Given the description of an element on the screen output the (x, y) to click on. 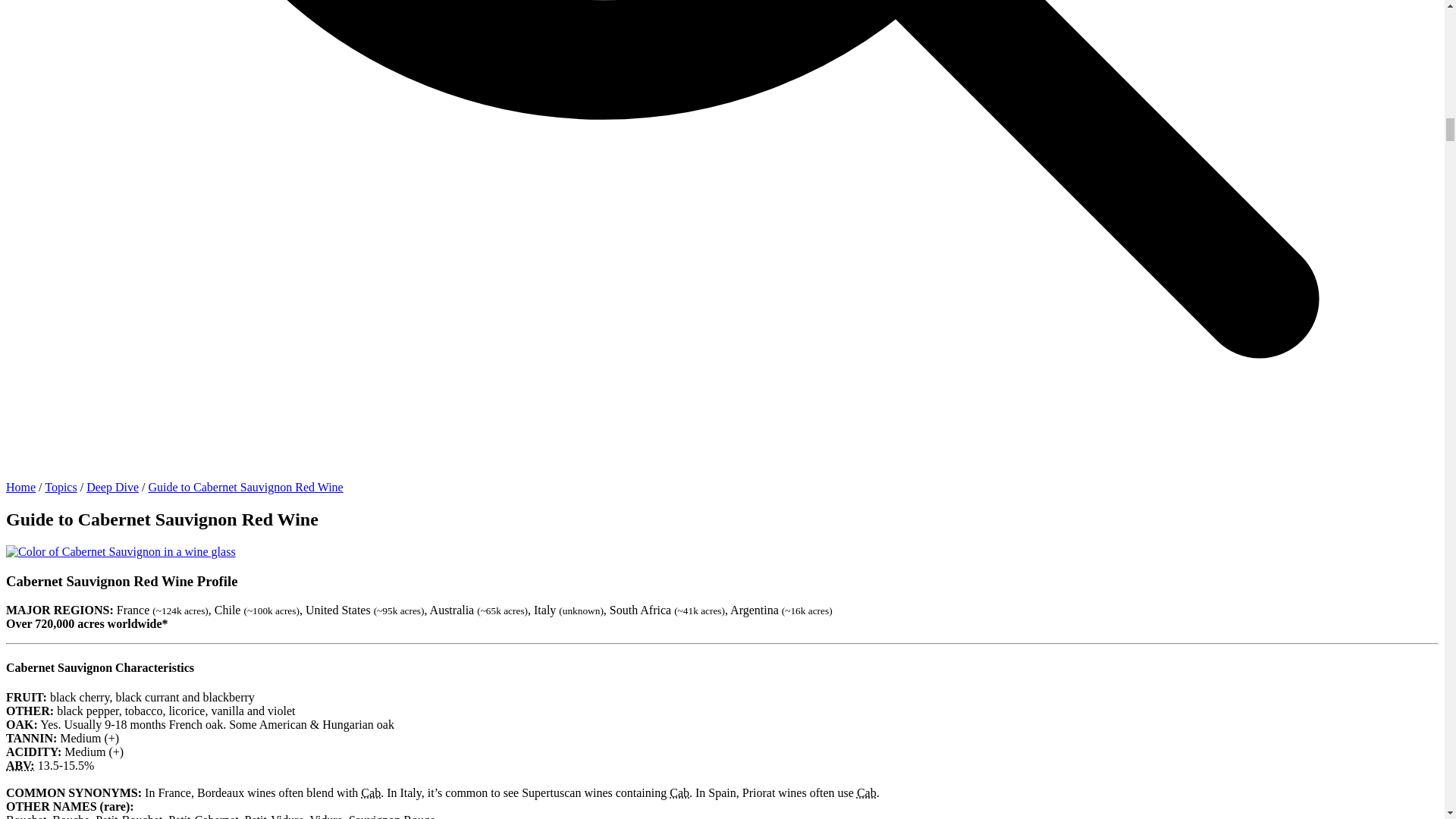
Guide to Cabernet Sauvignon Red Wine (245, 486)
Alcohol by Volume (19, 765)
Topics (61, 486)
Deep Dive (111, 486)
Home (19, 486)
Cabernet Sauvignon (866, 792)
Cabernet Sauvignon (370, 792)
Color of Cabernet Sauvignon in a wine glass (120, 551)
Cabernet Sauvignon (678, 792)
